Given the description of an element on the screen output the (x, y) to click on. 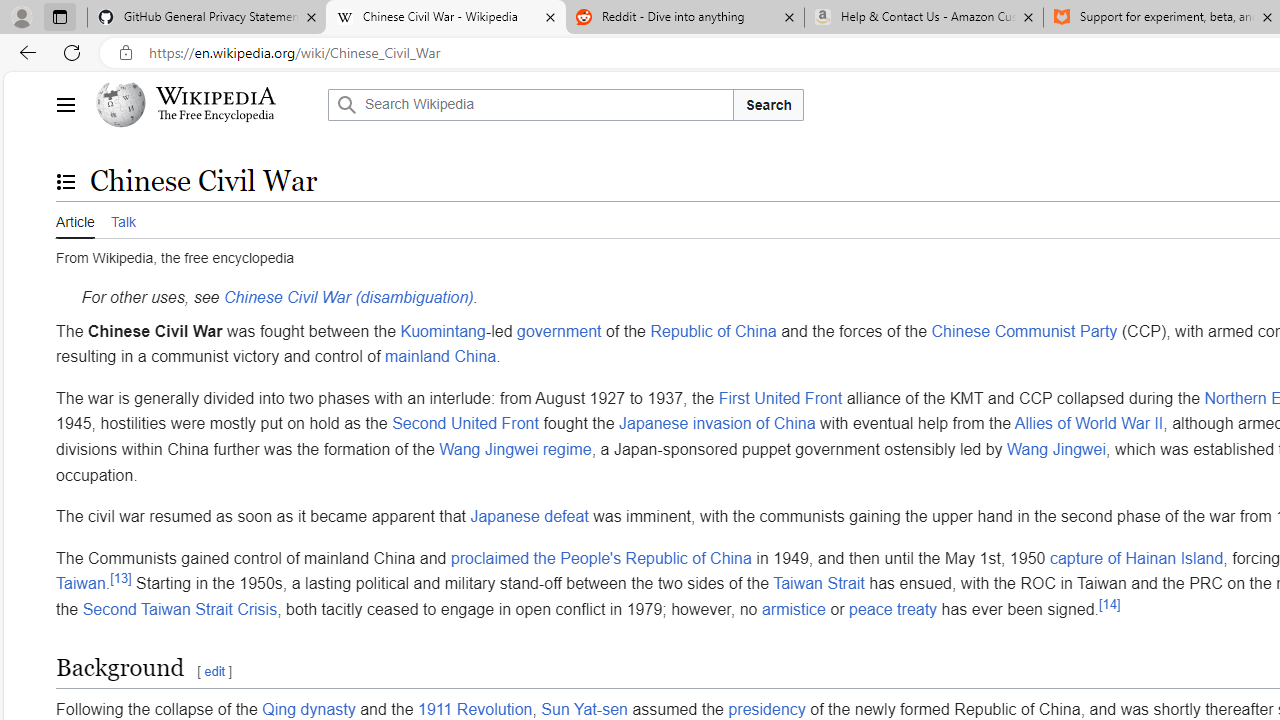
1911 Revolution (475, 708)
Talk (122, 219)
Article (75, 219)
capture of Hainan Island (1136, 557)
mainland China (440, 356)
proclaimed the People's Republic of China (601, 557)
First United Front (780, 397)
Qing dynasty (308, 708)
Second United Front (464, 423)
Japanese invasion of China (717, 423)
Help & Contact Us - Amazon Customer Service - Sleeping (924, 17)
Toggle the table of contents (65, 181)
